Given the description of an element on the screen output the (x, y) to click on. 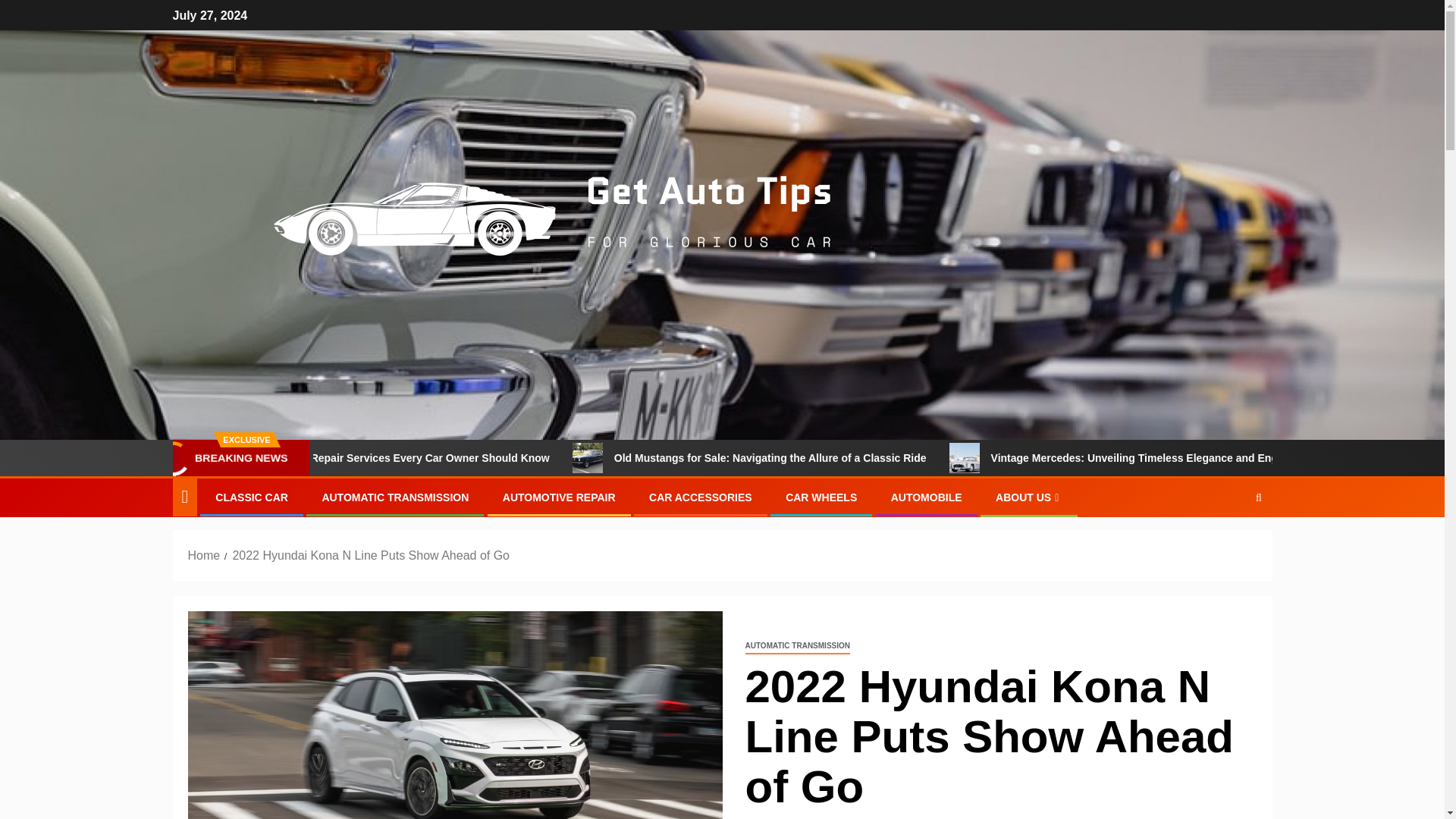
ABOUT US (1028, 497)
Search (1229, 543)
CLASSIC CAR (251, 497)
2022 Hyundai Kona N Line Puts Show Ahead of Go (370, 554)
CAR ACCESSORIES (700, 497)
AUTOMATIC TRANSMISSION (394, 497)
CAR WHEELS (821, 497)
Home (204, 554)
Essential Auto Repair Services Every Car Owner Should Know (498, 458)
AUTOMOTIVE REPAIR (558, 497)
2022 Hyundai Kona N Line Puts Show Ahead of Go (454, 714)
AUTOMATIC TRANSMISSION (797, 646)
AUTOMOBILE (926, 497)
